Given the description of an element on the screen output the (x, y) to click on. 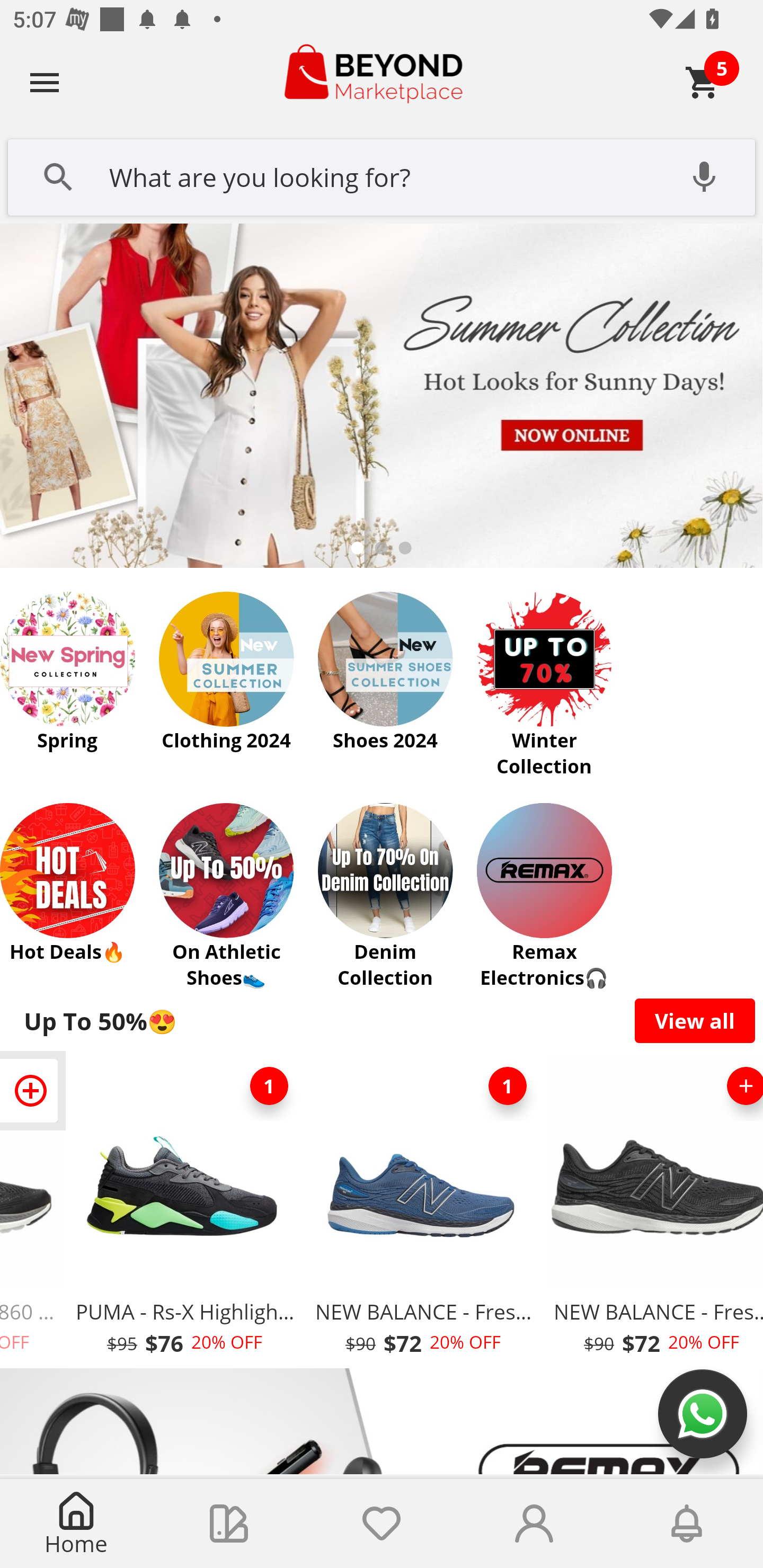
Navigate up (44, 82)
What are you looking for? (381, 175)
View all (694, 1020)
1 (269, 1085)
1 (507, 1085)
Collections (228, 1523)
Wishlist (381, 1523)
Account (533, 1523)
Notifications (686, 1523)
